Given the description of an element on the screen output the (x, y) to click on. 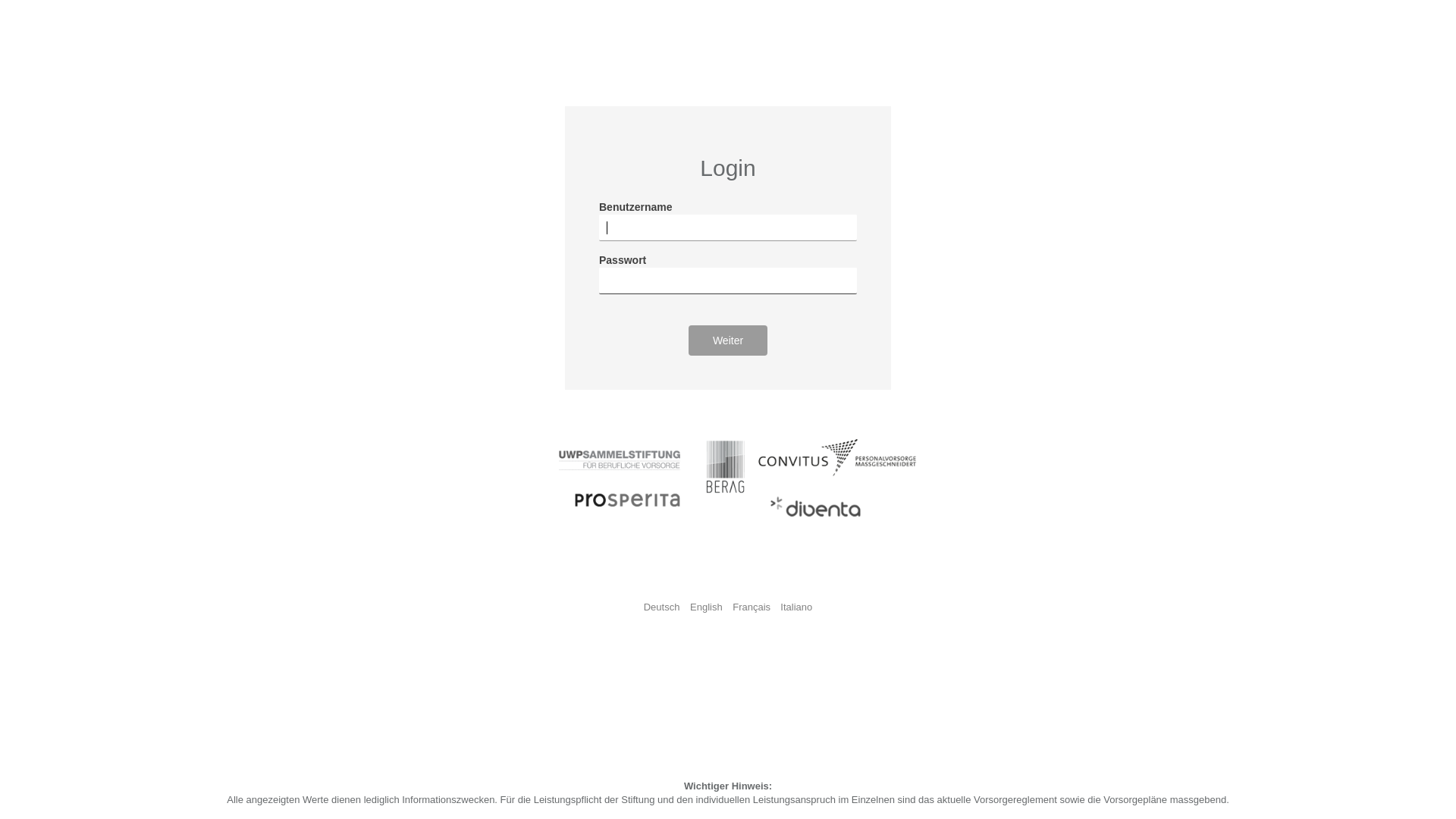
Weiter Element type: text (727, 340)
